Given the description of an element on the screen output the (x, y) to click on. 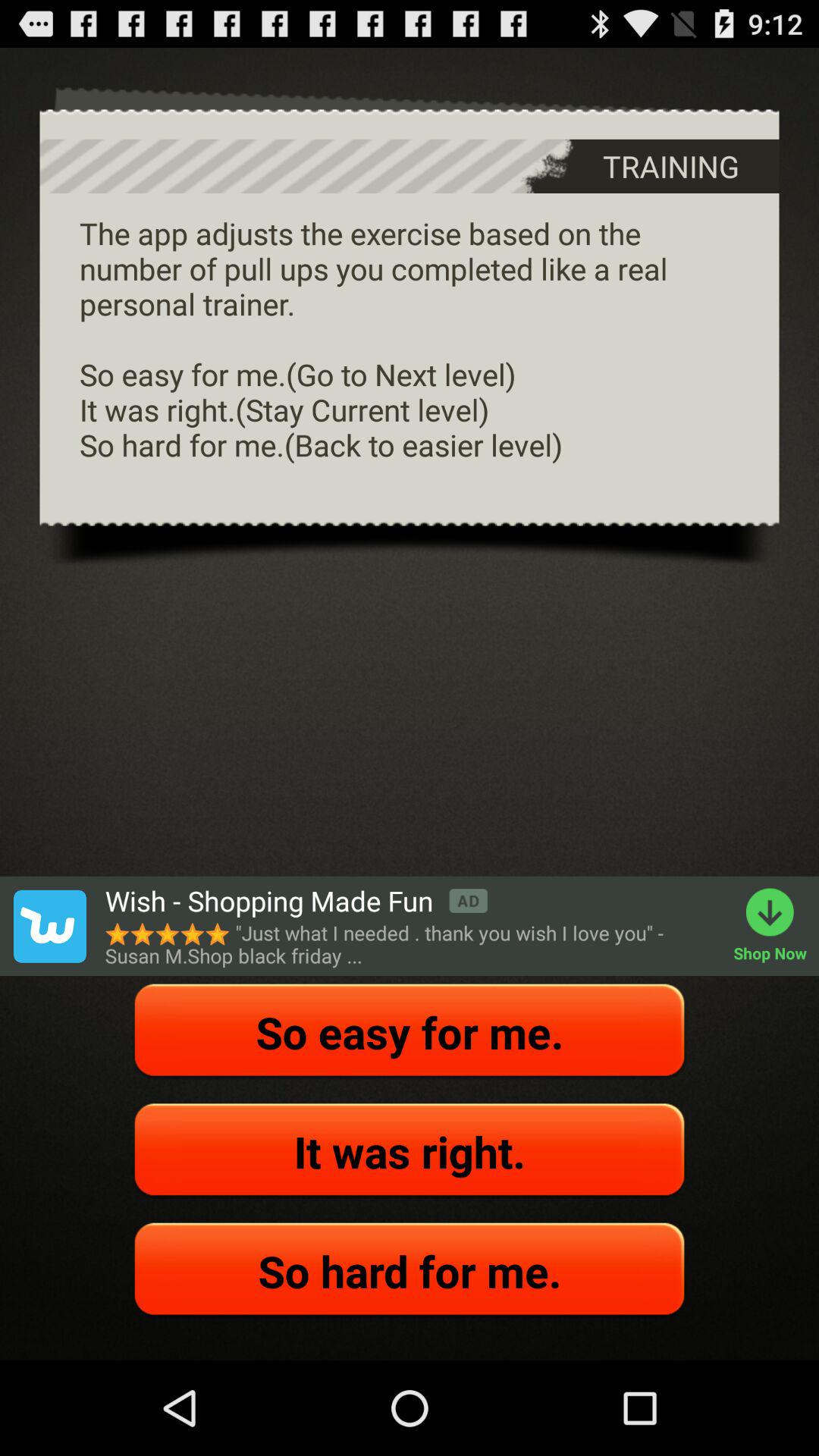
open just what i item (411, 944)
